Given the description of an element on the screen output the (x, y) to click on. 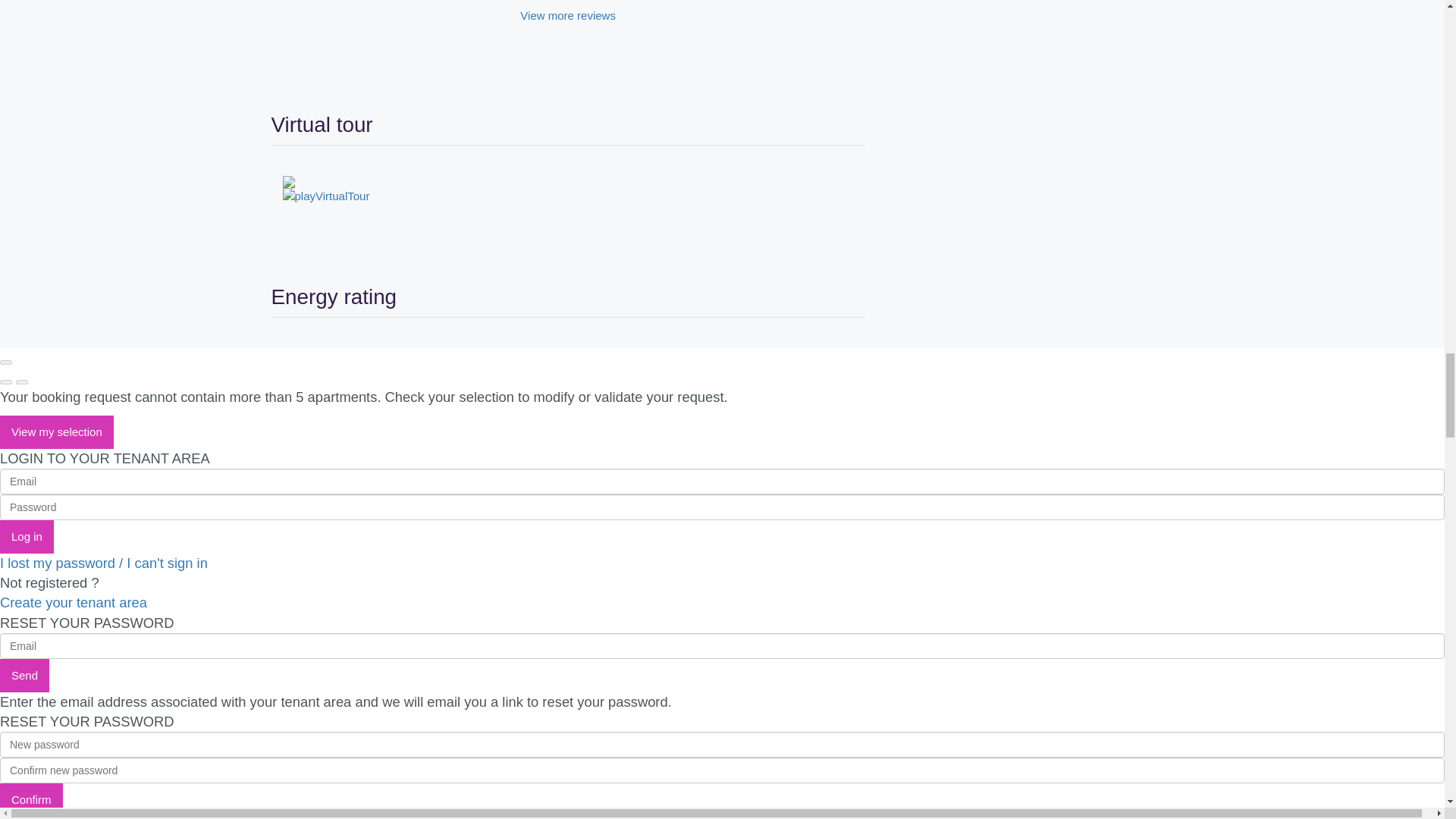
Confirm (31, 799)
Send (24, 675)
Log in (26, 536)
